Given the description of an element on the screen output the (x, y) to click on. 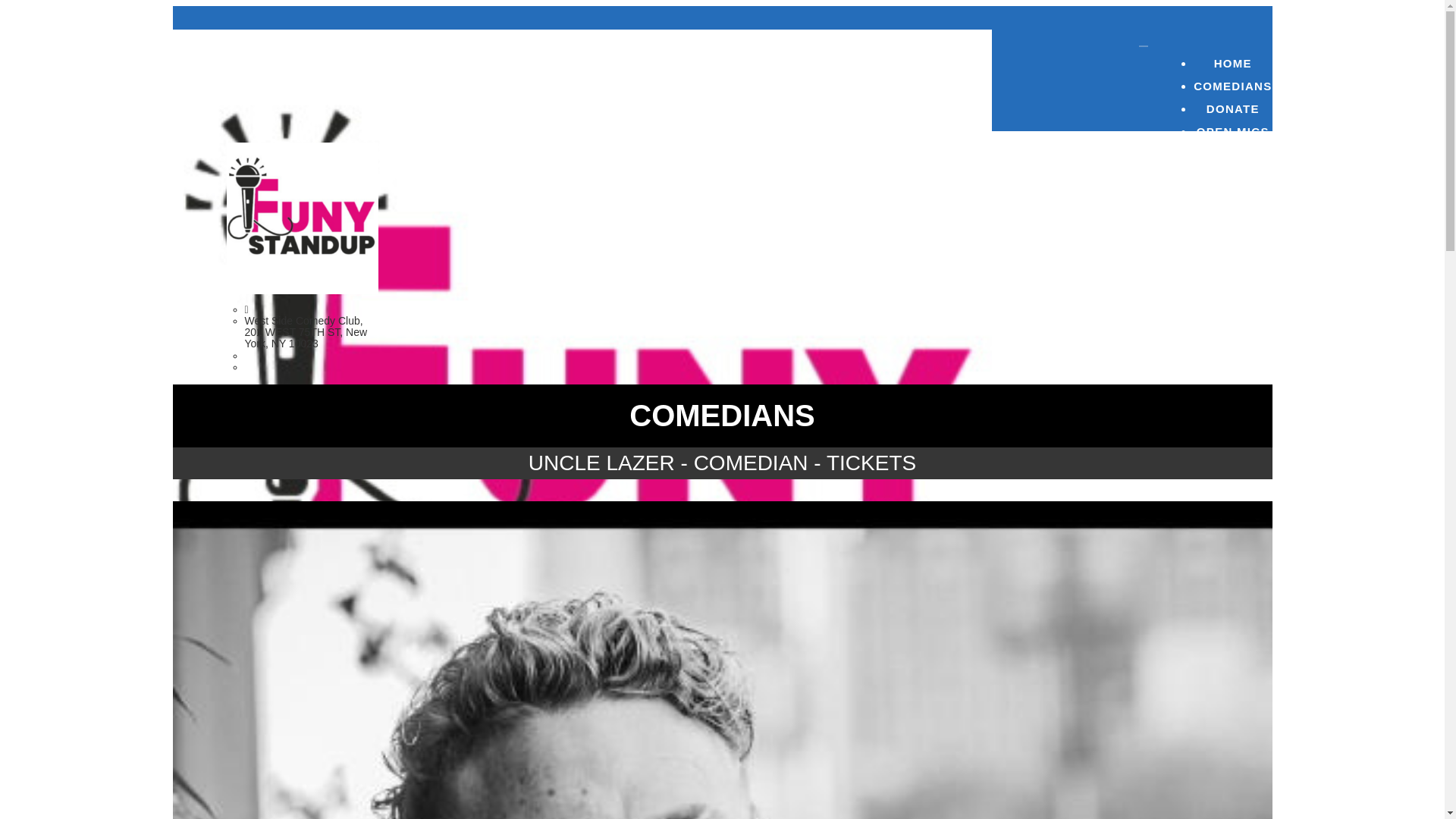
MORE INFO (1232, 177)
DONATE (1232, 109)
COMEDIANS (1232, 86)
CONTACT (1232, 155)
HOME (1232, 64)
OPEN MICS (1232, 132)
CLASSES (1232, 200)
